Given the description of an element on the screen output the (x, y) to click on. 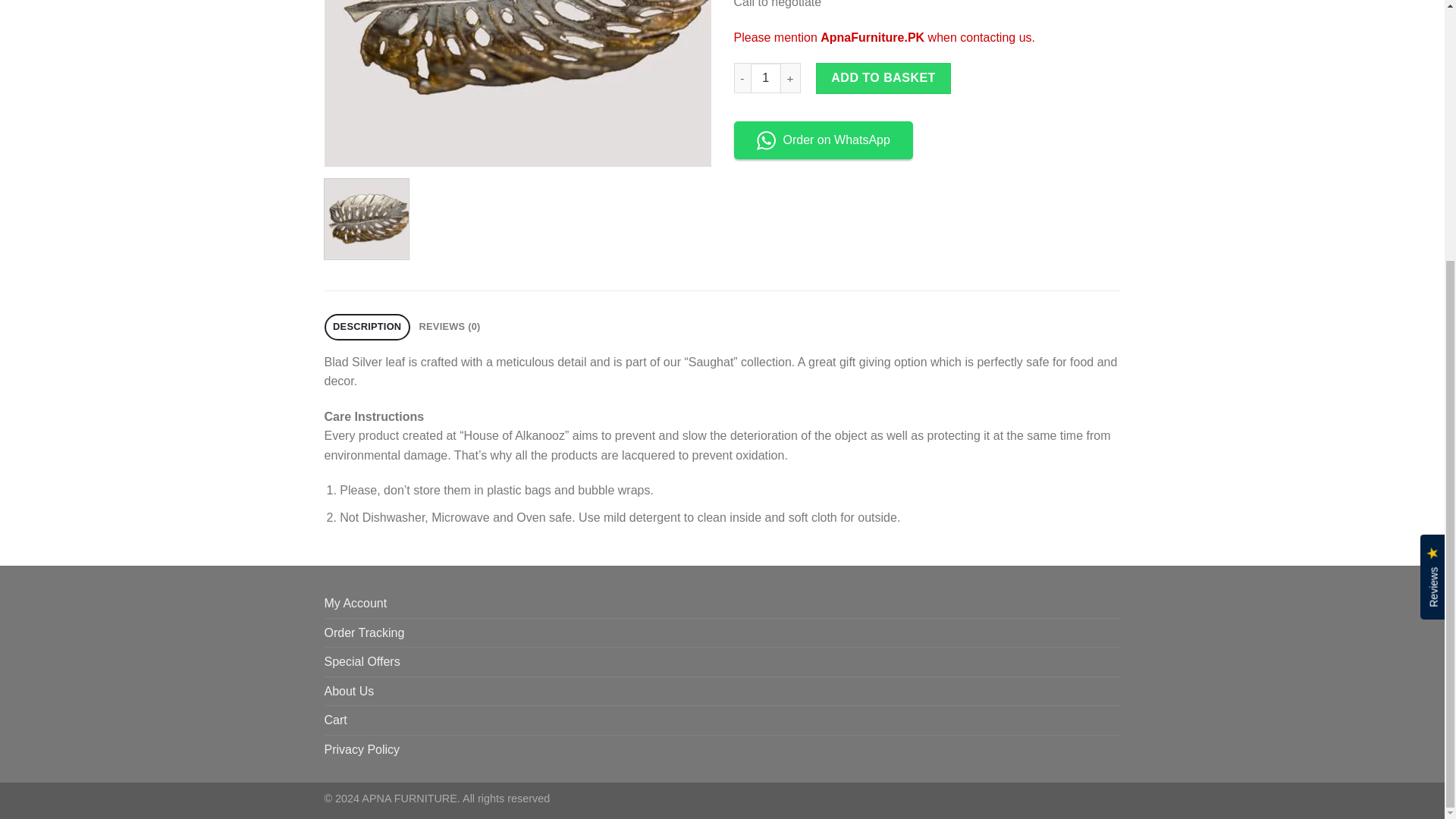
1 (765, 78)
